Given the description of an element on the screen output the (x, y) to click on. 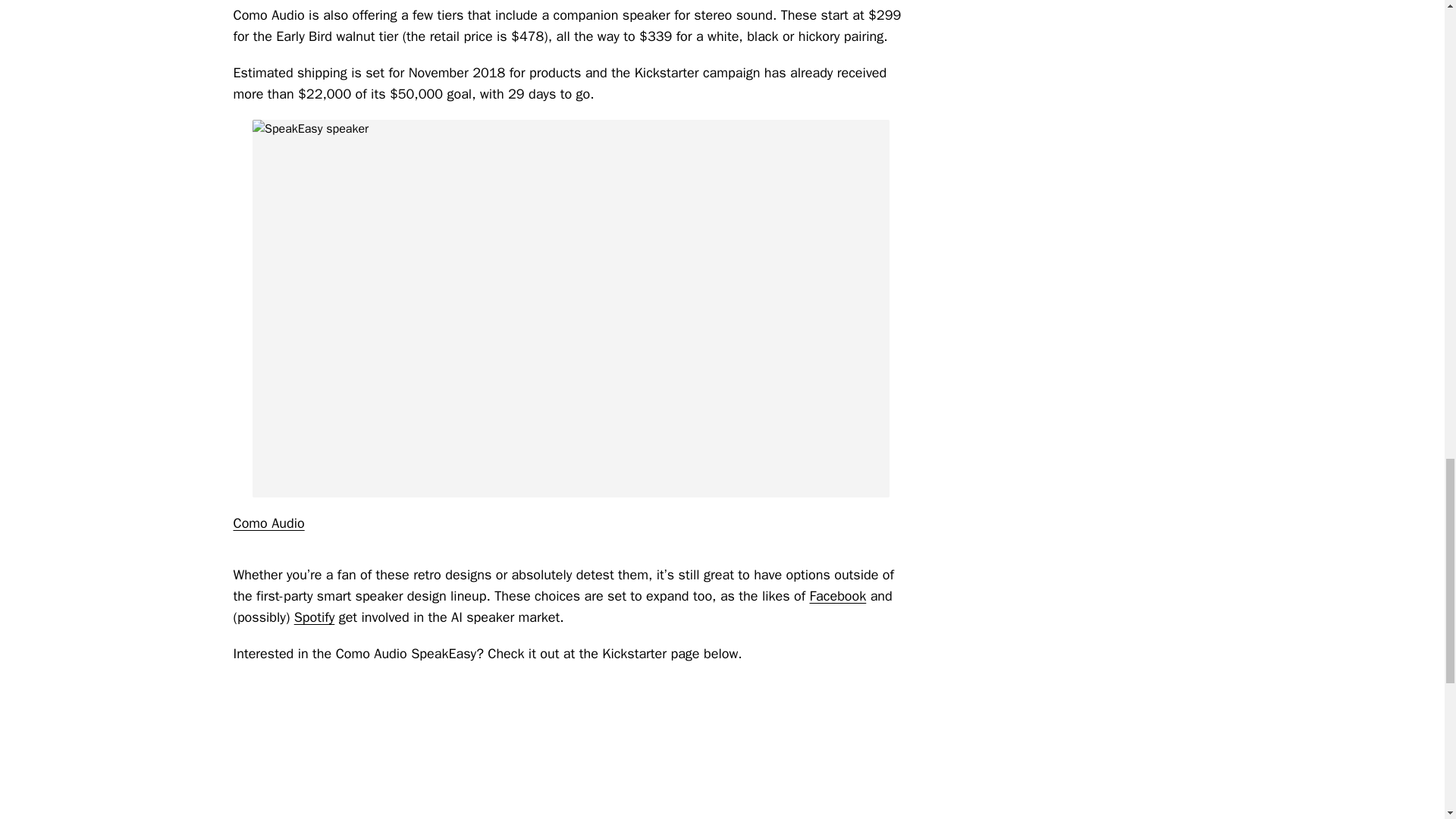
Spotify (314, 617)
Como Audio (268, 523)
Facebook (837, 596)
